Given the description of an element on the screen output the (x, y) to click on. 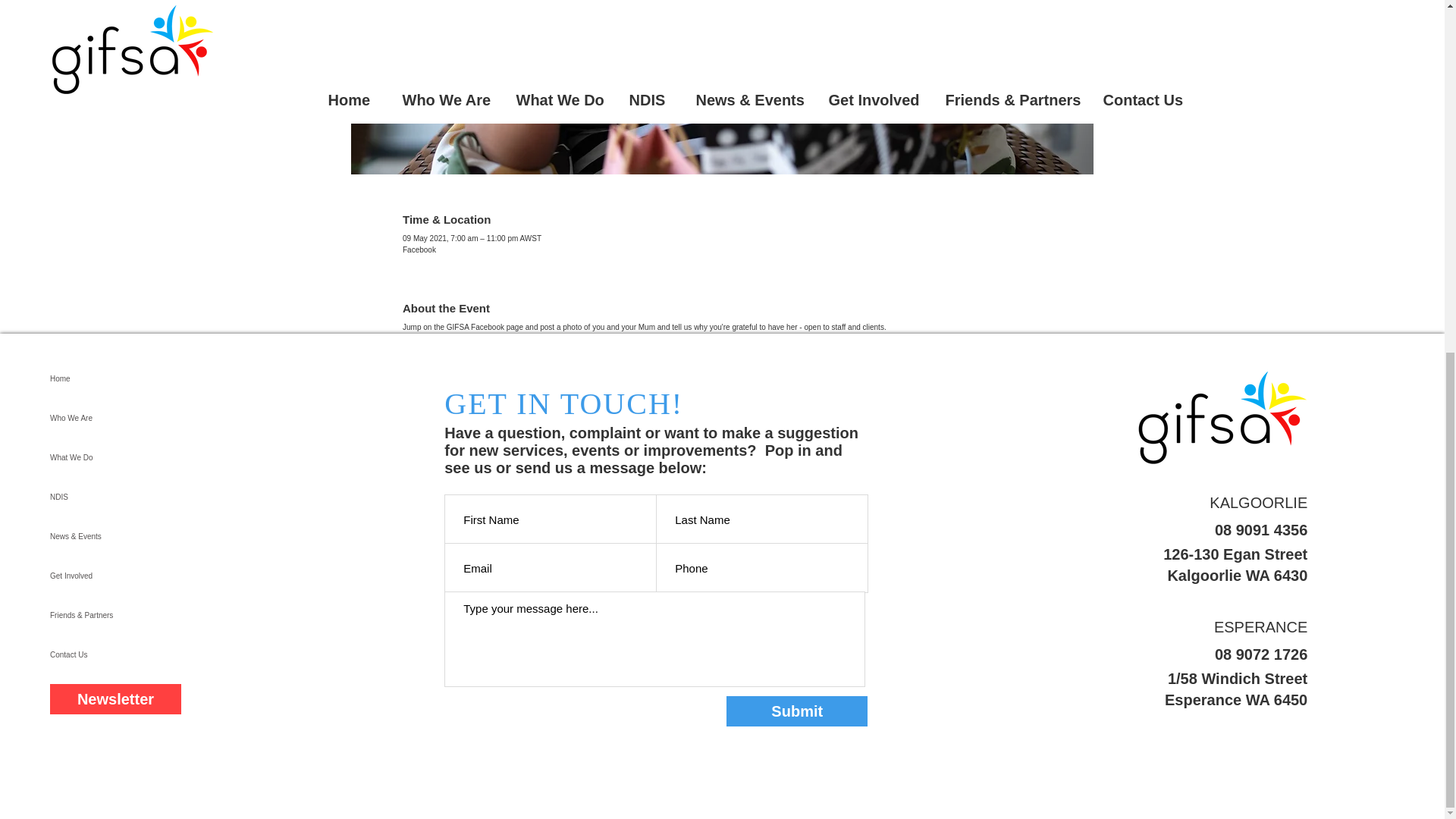
Home (119, 378)
Who We Are (119, 418)
What We Do (119, 457)
